Given the description of an element on the screen output the (x, y) to click on. 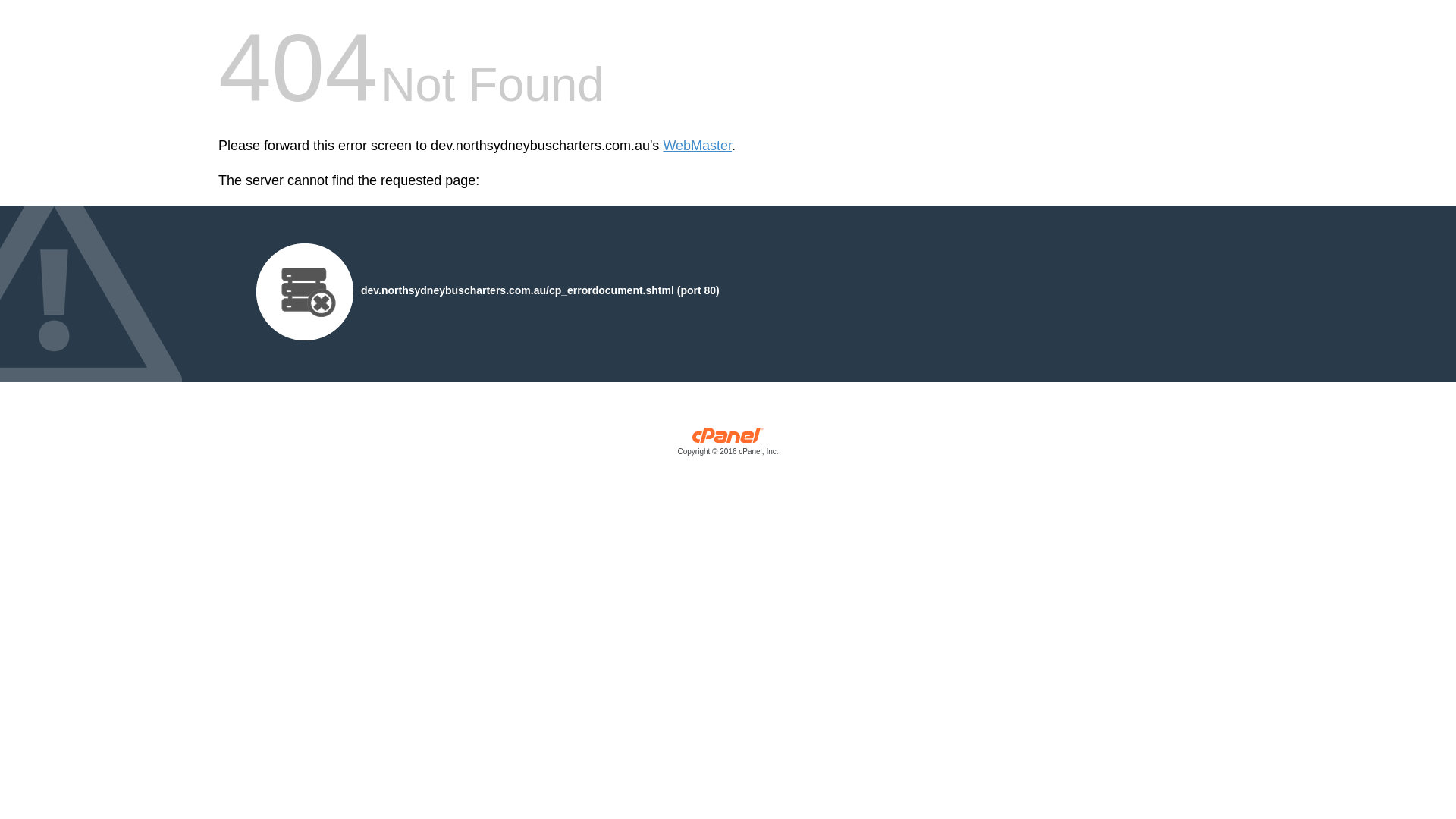
WebMaster Element type: text (696, 145)
